Given the description of an element on the screen output the (x, y) to click on. 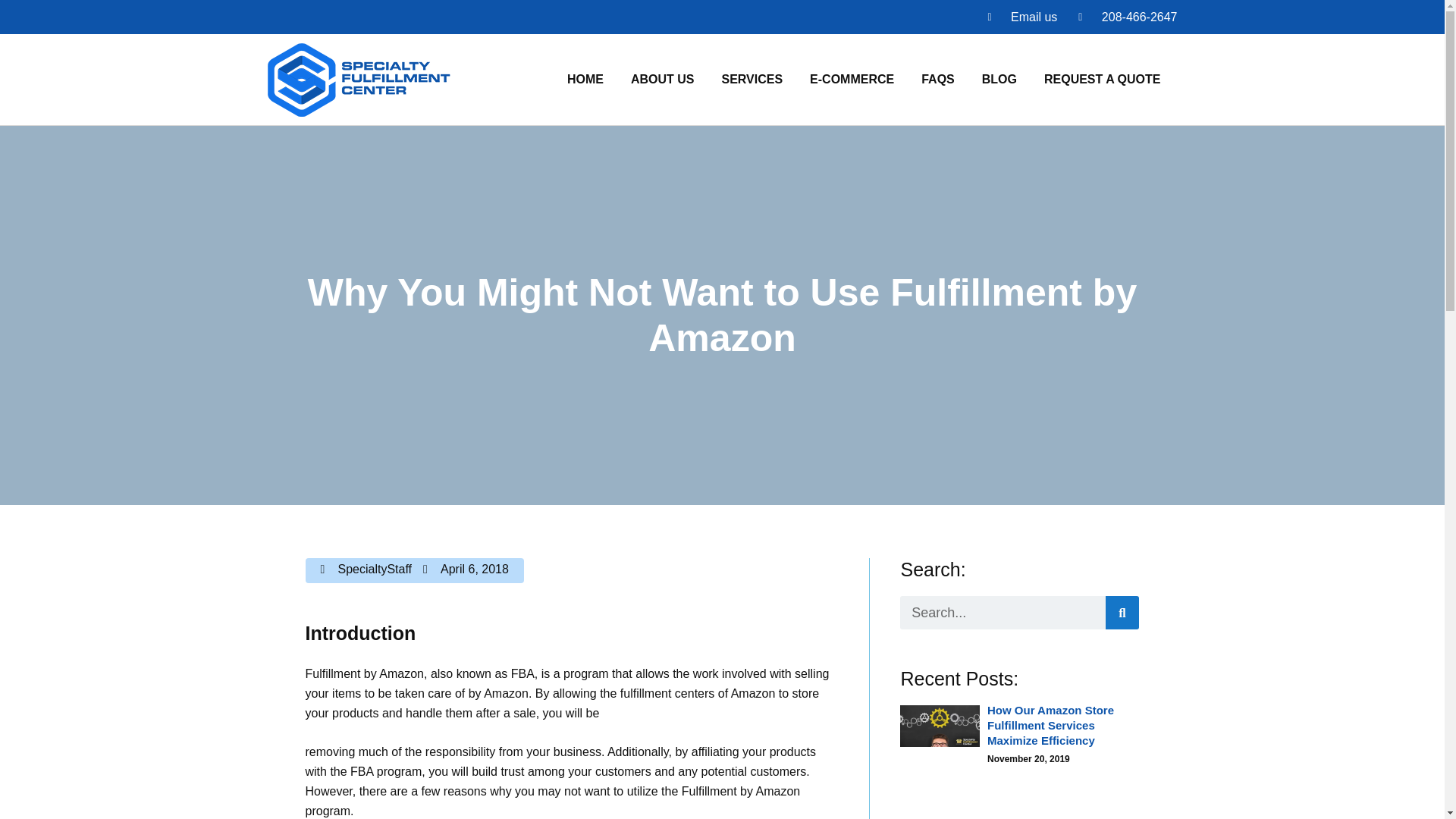
FAQS (937, 79)
REQUEST A QUOTE (1102, 79)
Email us (1022, 16)
HOME (585, 79)
208-466-2647 (1127, 16)
E-COMMERCE (851, 79)
SERVICES (751, 79)
BLOG (999, 79)
ABOUT US (662, 79)
